Given the description of an element on the screen output the (x, y) to click on. 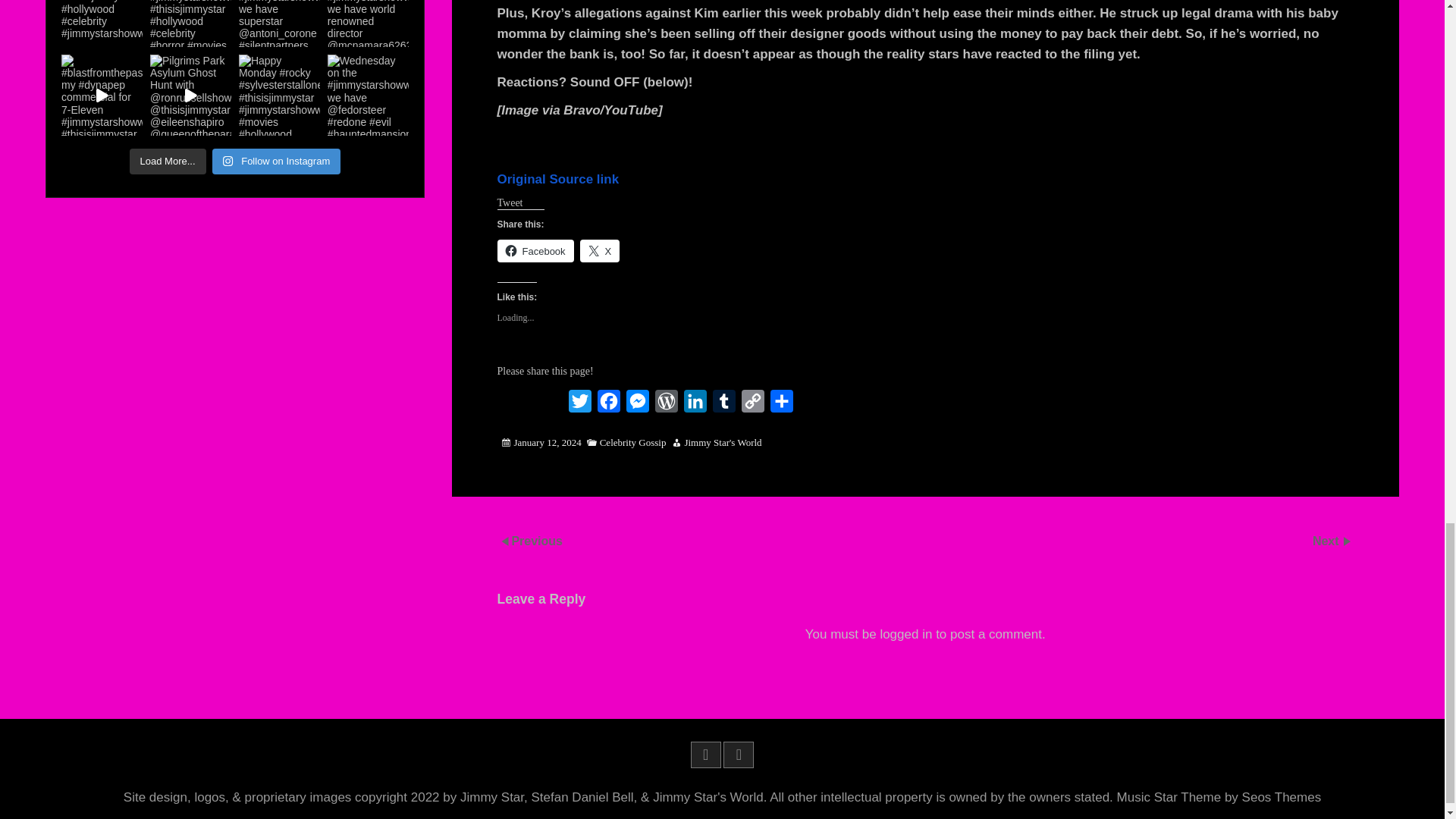
WordPress (666, 404)
Click to share on Facebook (535, 250)
Music Star Theme - seos (1219, 797)
LinkedIn (695, 404)
Tumblr (724, 404)
Copy Link (752, 404)
Facebook (608, 404)
Messenger (637, 404)
Click to share on X (599, 250)
Twitter (580, 404)
